Given the description of an element on the screen output the (x, y) to click on. 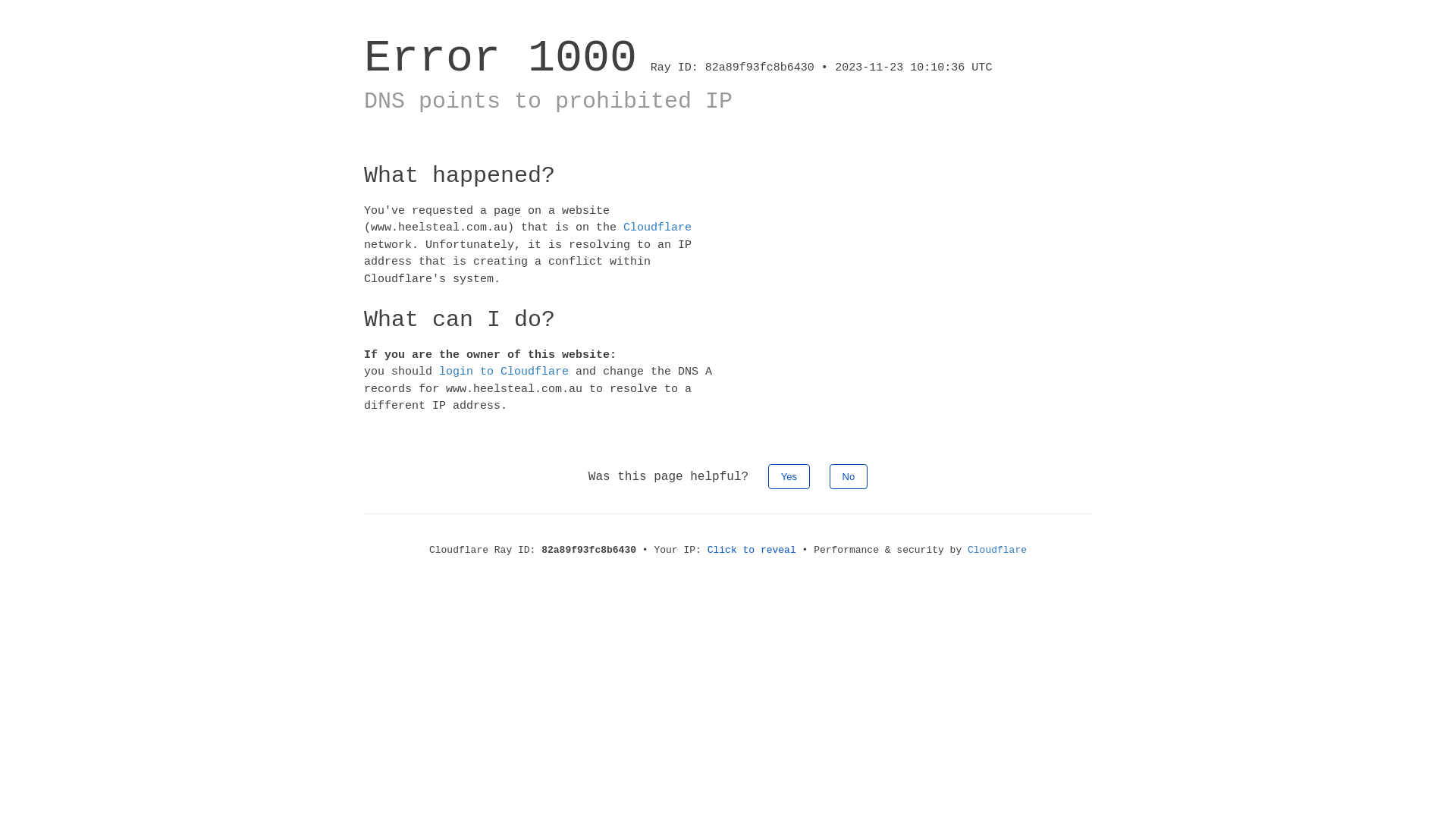
Yes Element type: text (788, 476)
login to Cloudflare Element type: text (503, 371)
Click to reveal Element type: text (751, 549)
No Element type: text (848, 476)
Cloudflare Element type: text (657, 227)
Cloudflare Element type: text (996, 549)
